Given the description of an element on the screen output the (x, y) to click on. 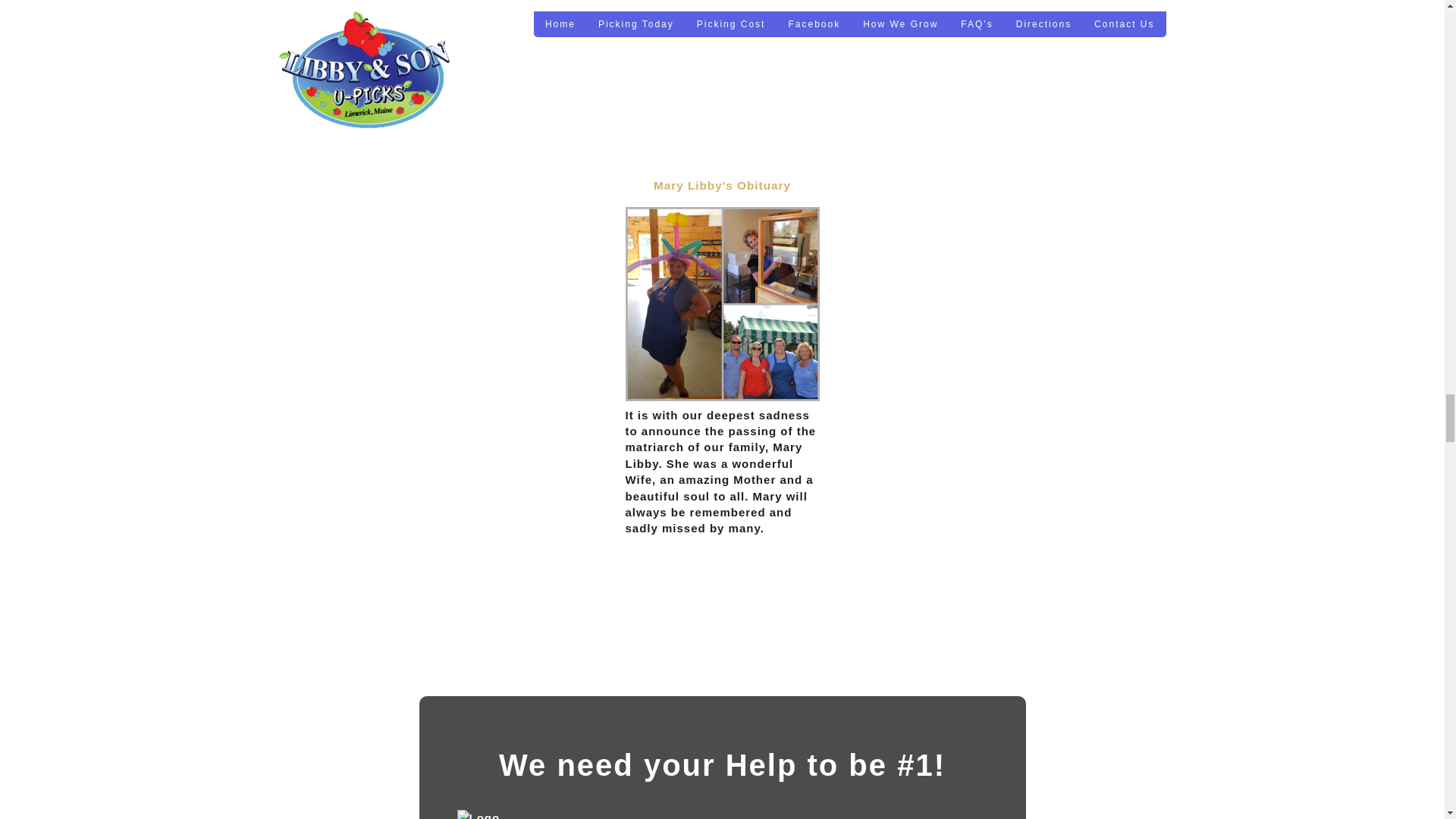
Mary Libby's Obituary (721, 185)
